Given the description of an element on the screen output the (x, y) to click on. 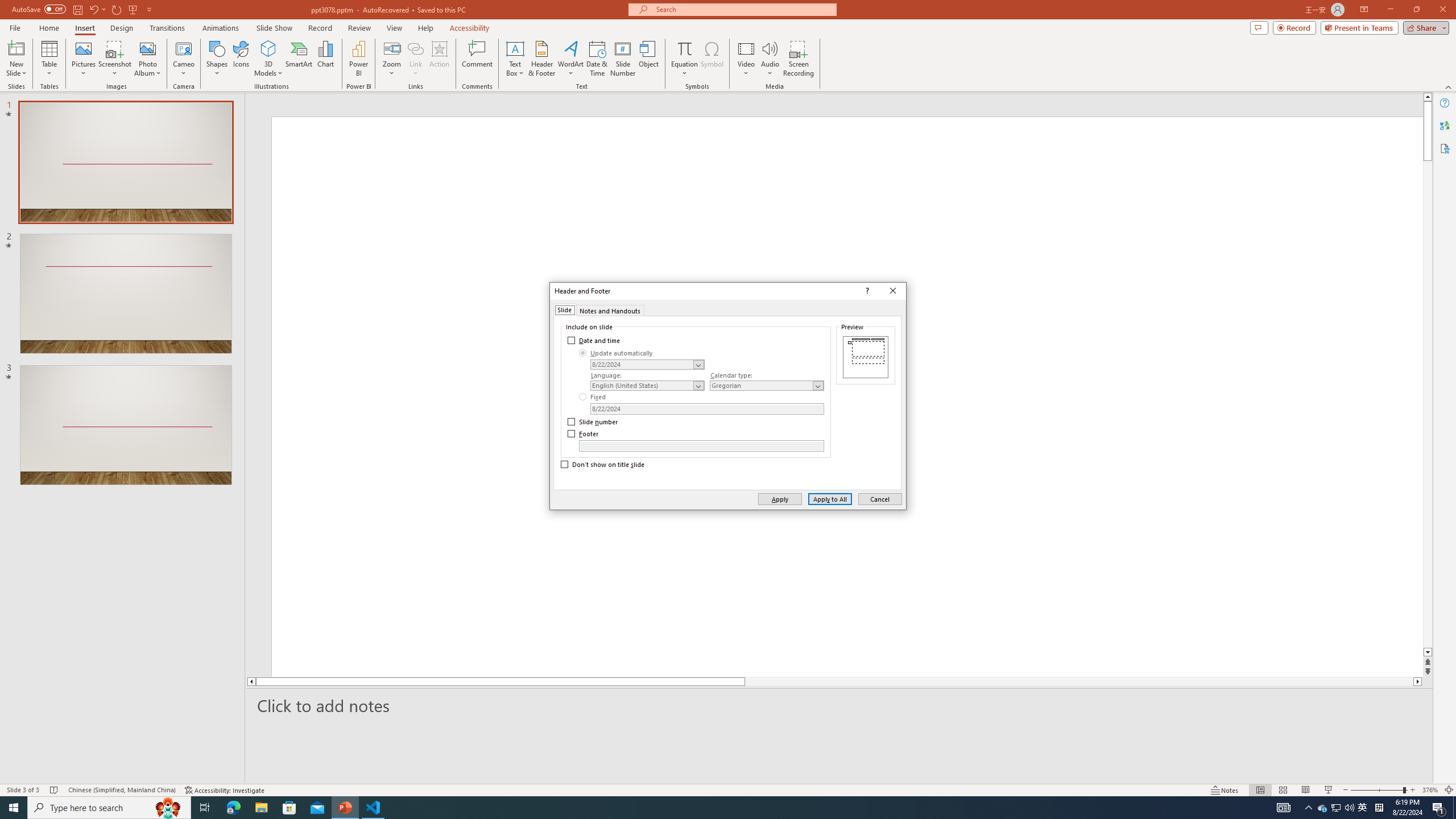
Photo Album... (147, 58)
Slide Number (622, 58)
Notes and Handouts (610, 309)
Comment (476, 58)
Fixed (593, 396)
Equation (683, 58)
Draw Horizontal Text Box (515, 48)
